Given the description of an element on the screen output the (x, y) to click on. 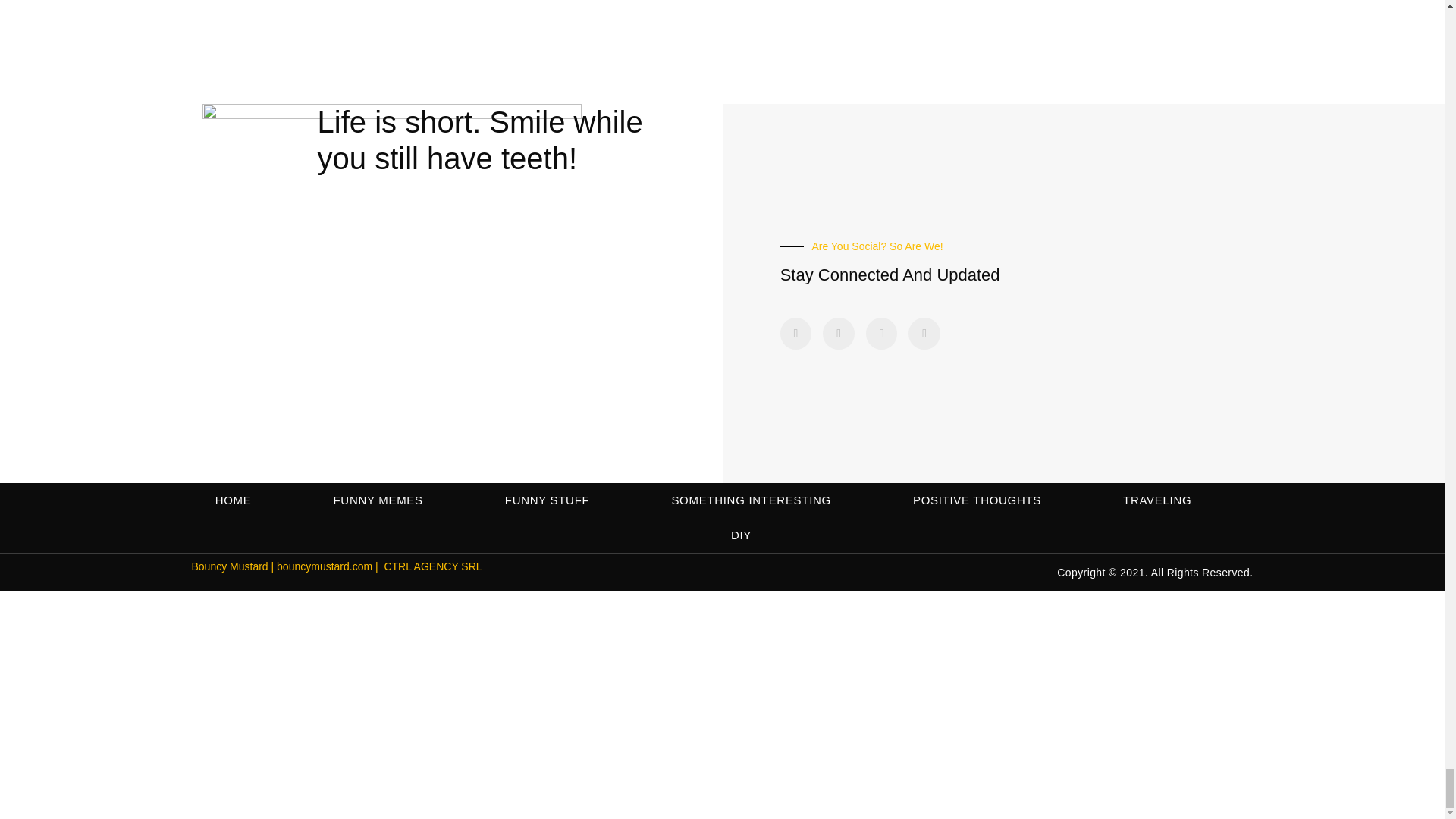
HOME (233, 500)
FUNNY MEMES (378, 500)
Life is short. Smile while you still have teeth! (480, 140)
FUNNY STUFF (547, 500)
